Given the description of an element on the screen output the (x, y) to click on. 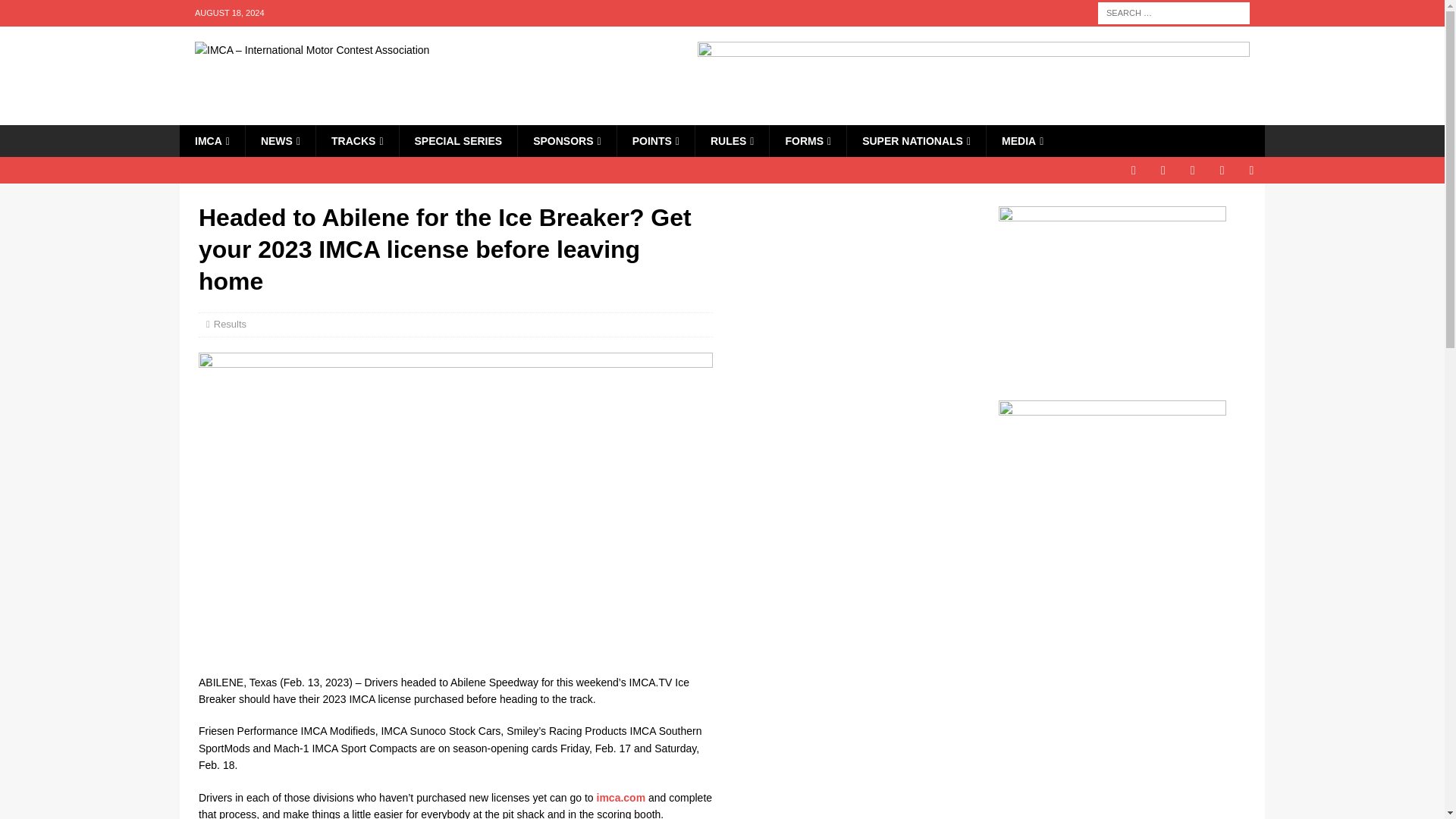
SPONSORS (565, 141)
POINTS (654, 141)
Search (56, 11)
SPECIAL SERIES (458, 141)
TRACKS (356, 141)
IMCA (211, 141)
NEWS (279, 141)
